Given the description of an element on the screen output the (x, y) to click on. 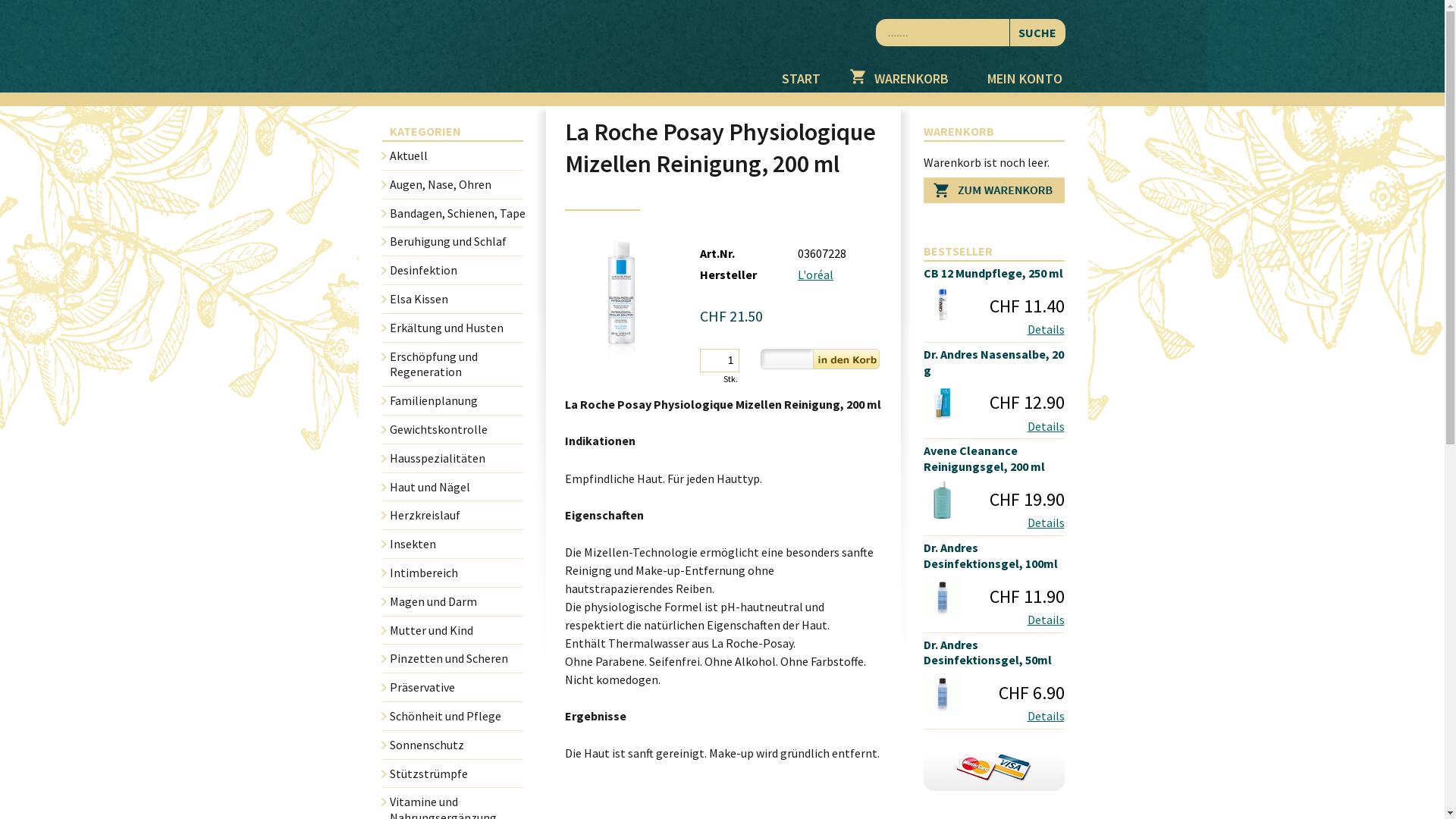
Desinfektion Element type: text (456, 270)
Gewichtskontrolle Element type: text (456, 429)
START Element type: text (800, 74)
Beruhigung und Schlaf Element type: text (456, 241)
Details Element type: text (1044, 715)
Sonnenschutz Element type: text (456, 745)
Details Element type: text (1044, 328)
Mutter und Kind Element type: text (456, 630)
CB 12 Mundpflege, 250 ml Element type: text (993, 273)
Bandagen, Schienen, Tape Element type: text (456, 213)
Avene Cleanance Reinigungsgel, 200 ml Element type: text (993, 458)
WARENKORB Element type: text (902, 74)
Magen und Darm Element type: text (456, 601)
La Roche Posay Physiologique Mizellen Reinigung, 200 ml Element type: hover (620, 298)
Insekten Element type: text (456, 544)
Pinzetten und Scheren Element type: text (456, 658)
Familienplanung Element type: text (456, 400)
Dr. Andres Desinfektionsgel, 50ml Element type: text (993, 652)
Intimbereich Element type: text (456, 572)
Details Element type: text (1044, 425)
MEIN KONTO Element type: text (1024, 74)
Details Element type: text (1044, 619)
Augen, Nase, Ohren Element type: text (456, 184)
Aktuell Element type: text (456, 155)
Elsa Kissen Element type: text (456, 299)
Details Element type: text (1044, 522)
Dr. Andres Desinfektionsgel, 100ml Element type: text (993, 555)
Herzkreislauf Element type: text (456, 515)
Dr. Andres Nasensalbe, 20 g Element type: text (993, 362)
